Given the description of an element on the screen output the (x, y) to click on. 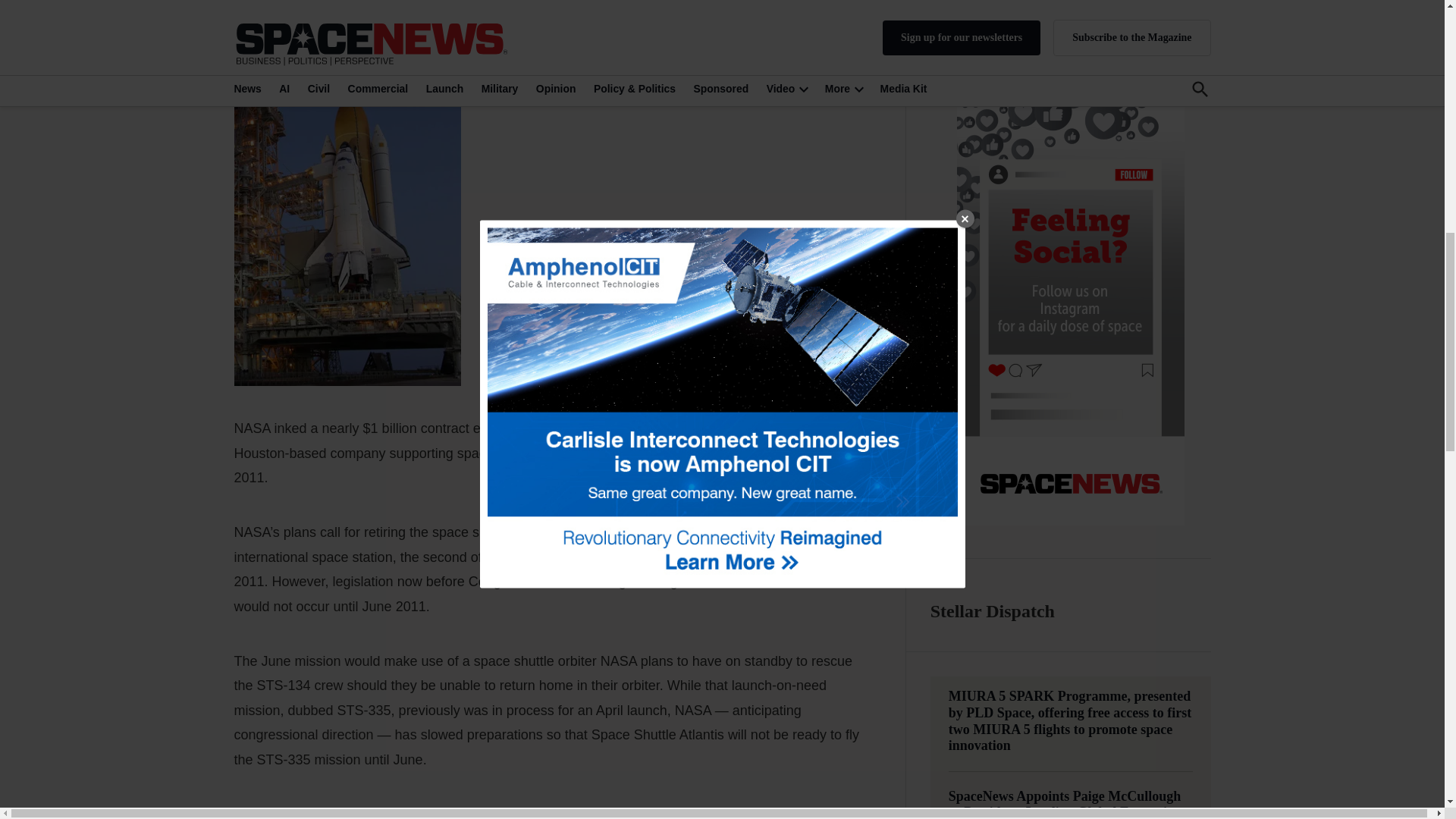
Click to email a link to a friend (380, 12)
Click to share on X (246, 12)
Click to share on Reddit (347, 12)
Click to share on Clipboard (414, 12)
Click to share on LinkedIn (313, 12)
Click to share on Facebook (280, 12)
